Given the description of an element on the screen output the (x, y) to click on. 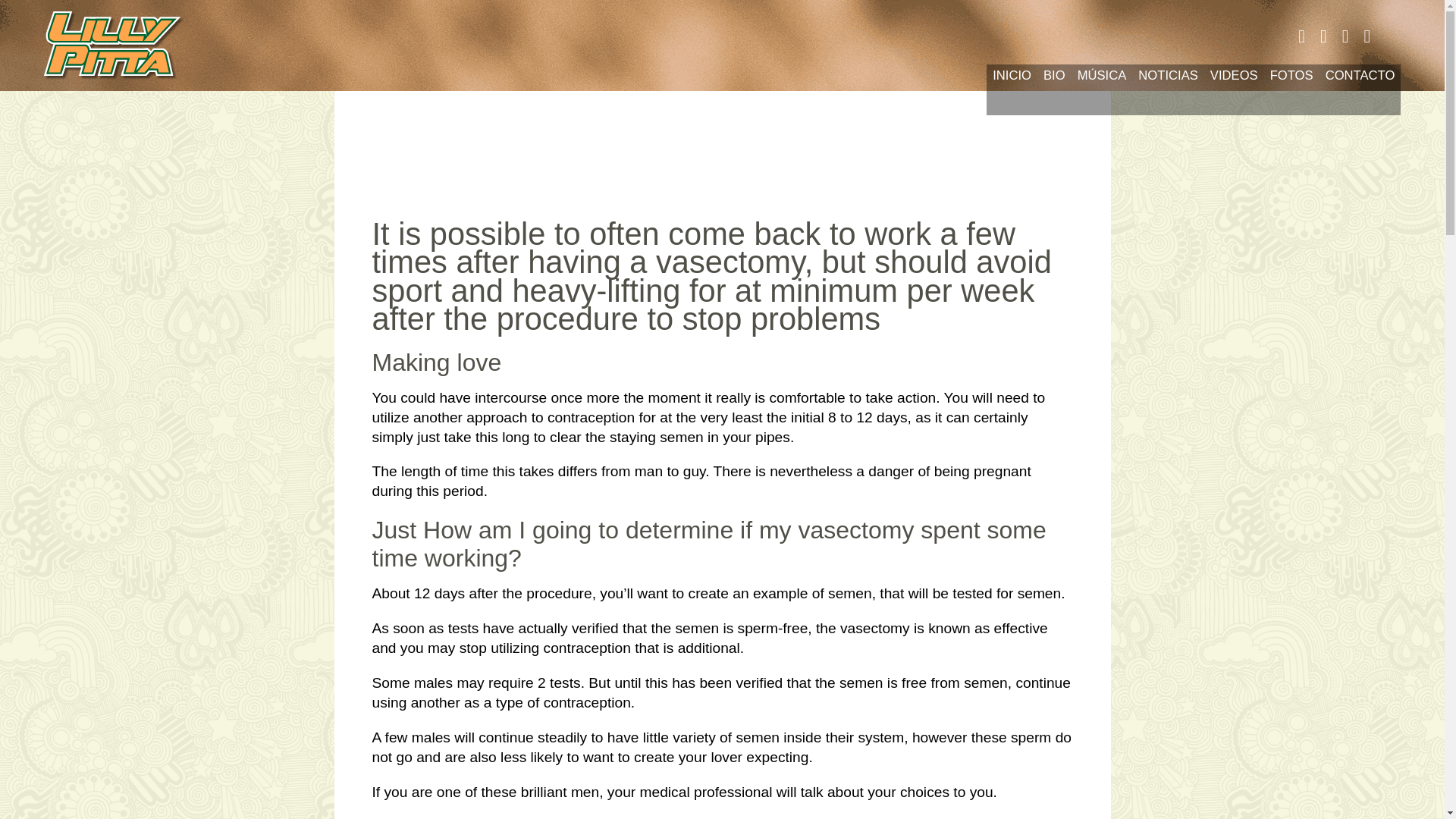
CONTACTO (1359, 89)
VIDEOS (1233, 89)
FOTOS (1291, 89)
INICIO (1011, 89)
NOTICIAS (1168, 89)
